Given the description of an element on the screen output the (x, y) to click on. 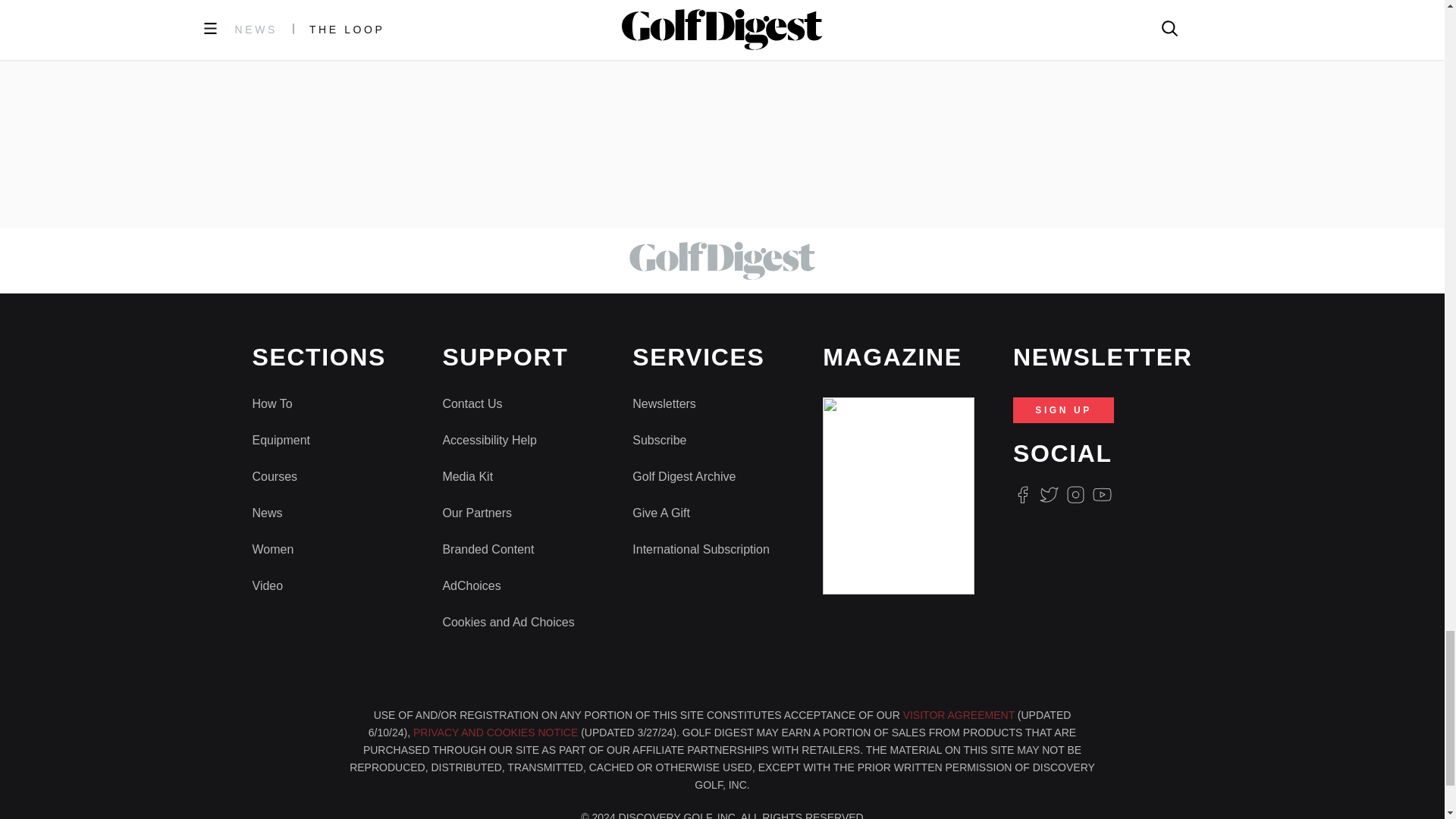
Twitter Logo (1048, 494)
Youtube Icon (1102, 494)
Instagram Logo (1074, 494)
Facebook Logo (1022, 494)
